Given the description of an element on the screen output the (x, y) to click on. 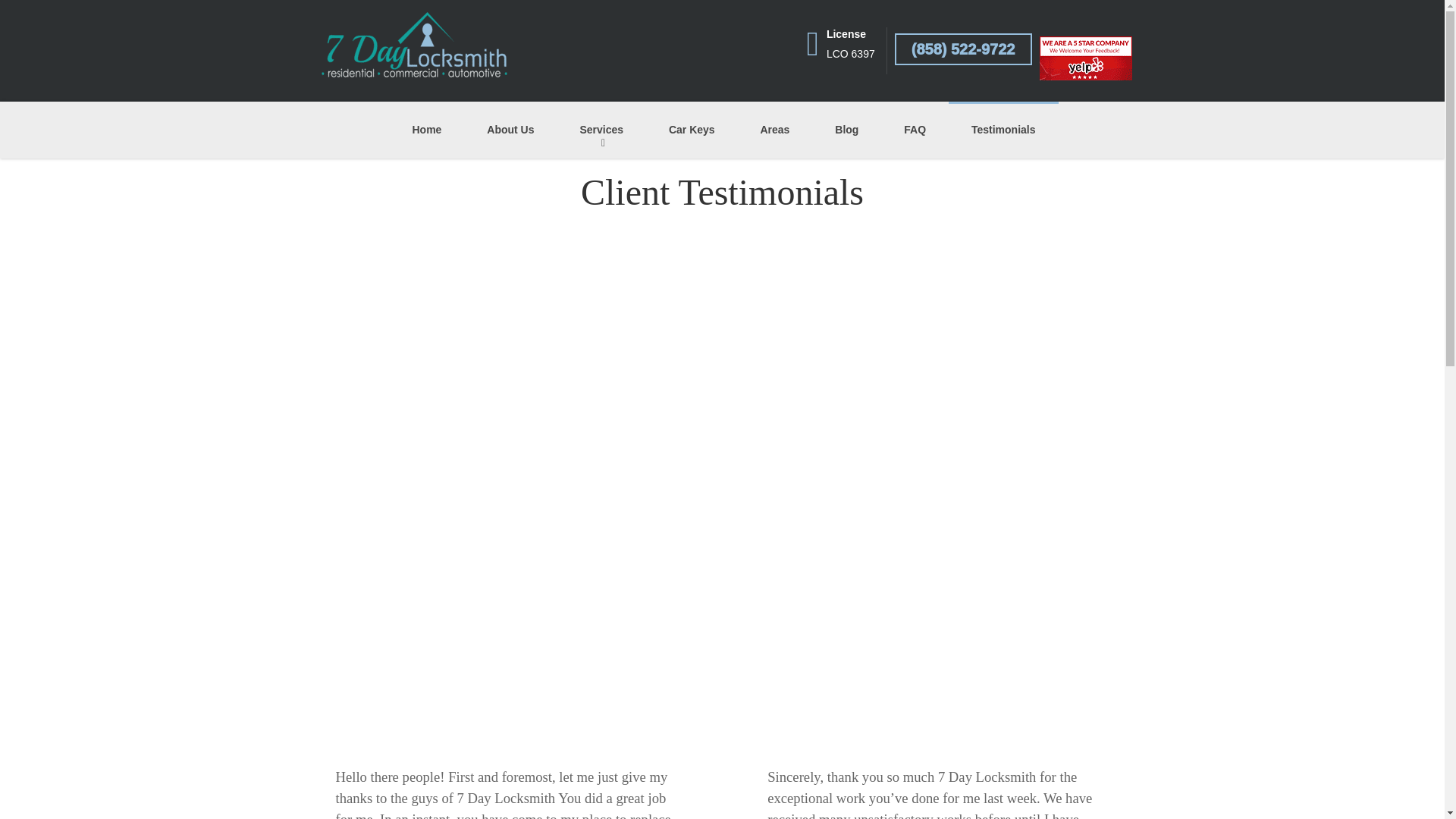
About Us (510, 129)
Services (601, 129)
Blog (846, 129)
Areas (774, 129)
Testimonials (1003, 129)
FAQ (914, 129)
Car Keys (692, 129)
Home (426, 129)
